Given the description of an element on the screen output the (x, y) to click on. 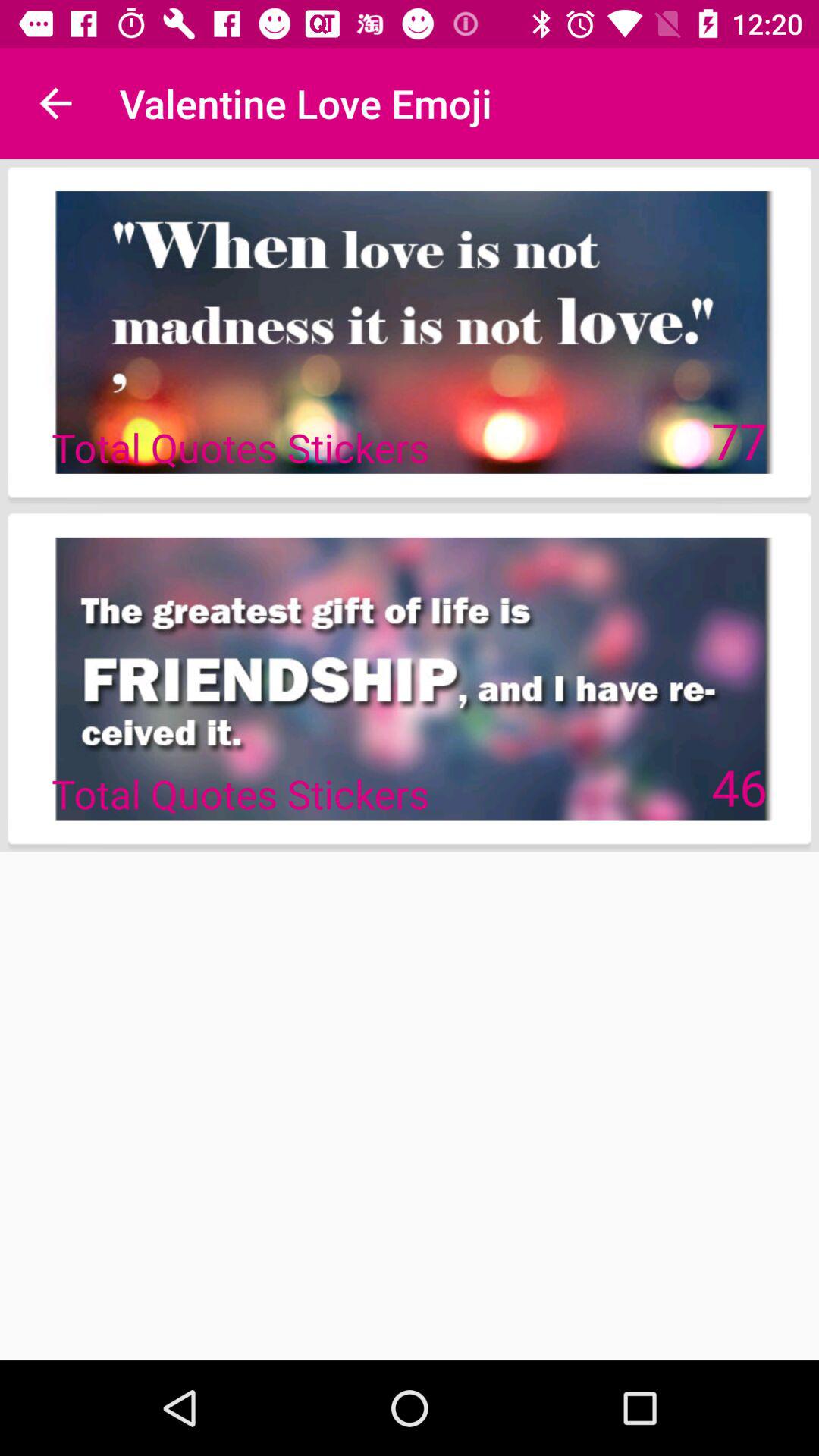
press icon on the right (739, 786)
